Given the description of an element on the screen output the (x, y) to click on. 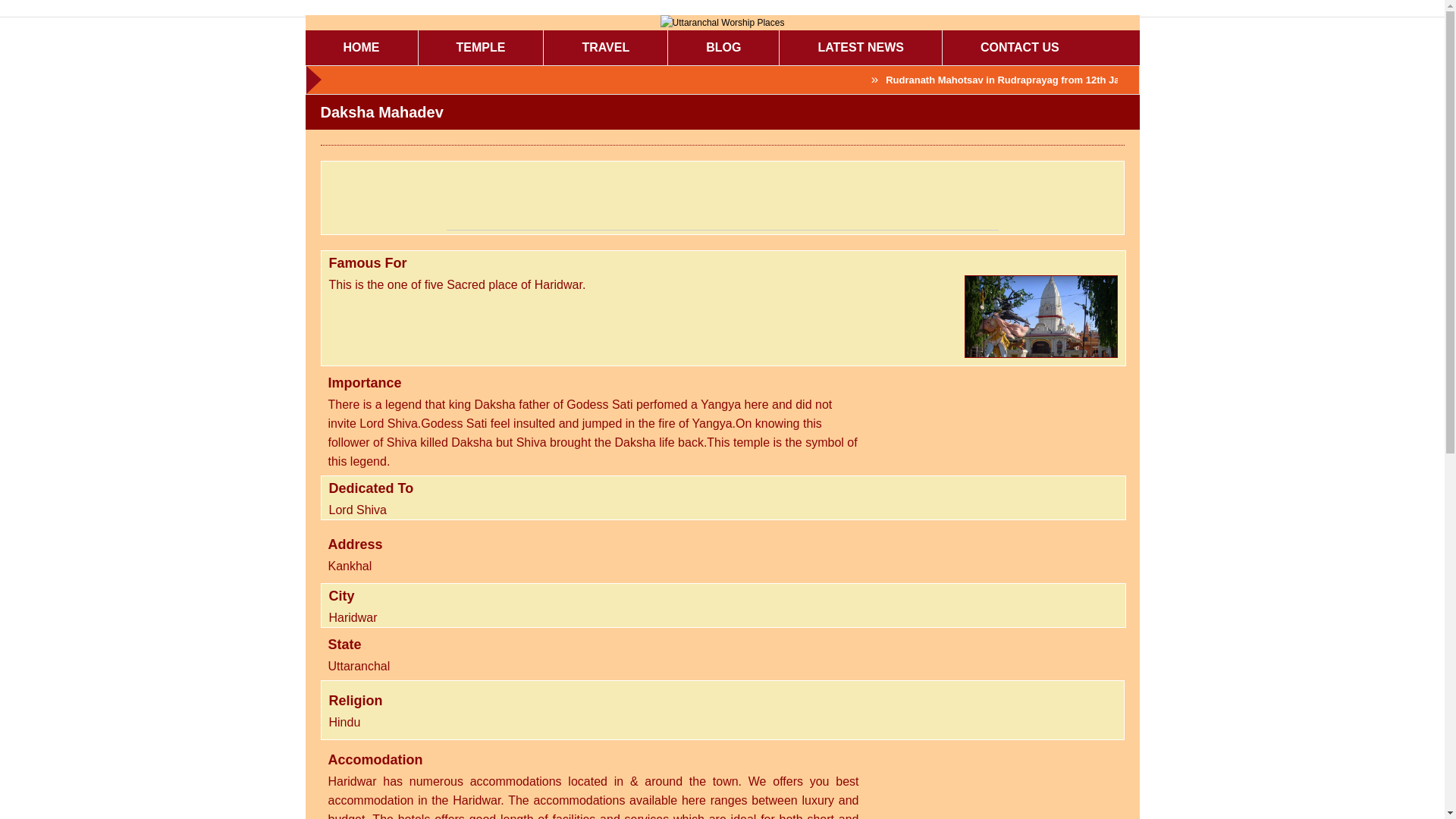
BLOG (723, 47)
TRAVEL (604, 47)
HOME (360, 47)
LATEST NEWS (859, 47)
CONTACT US (1019, 47)
TEMPLE (481, 47)
Advertisement (721, 195)
